Given the description of an element on the screen output the (x, y) to click on. 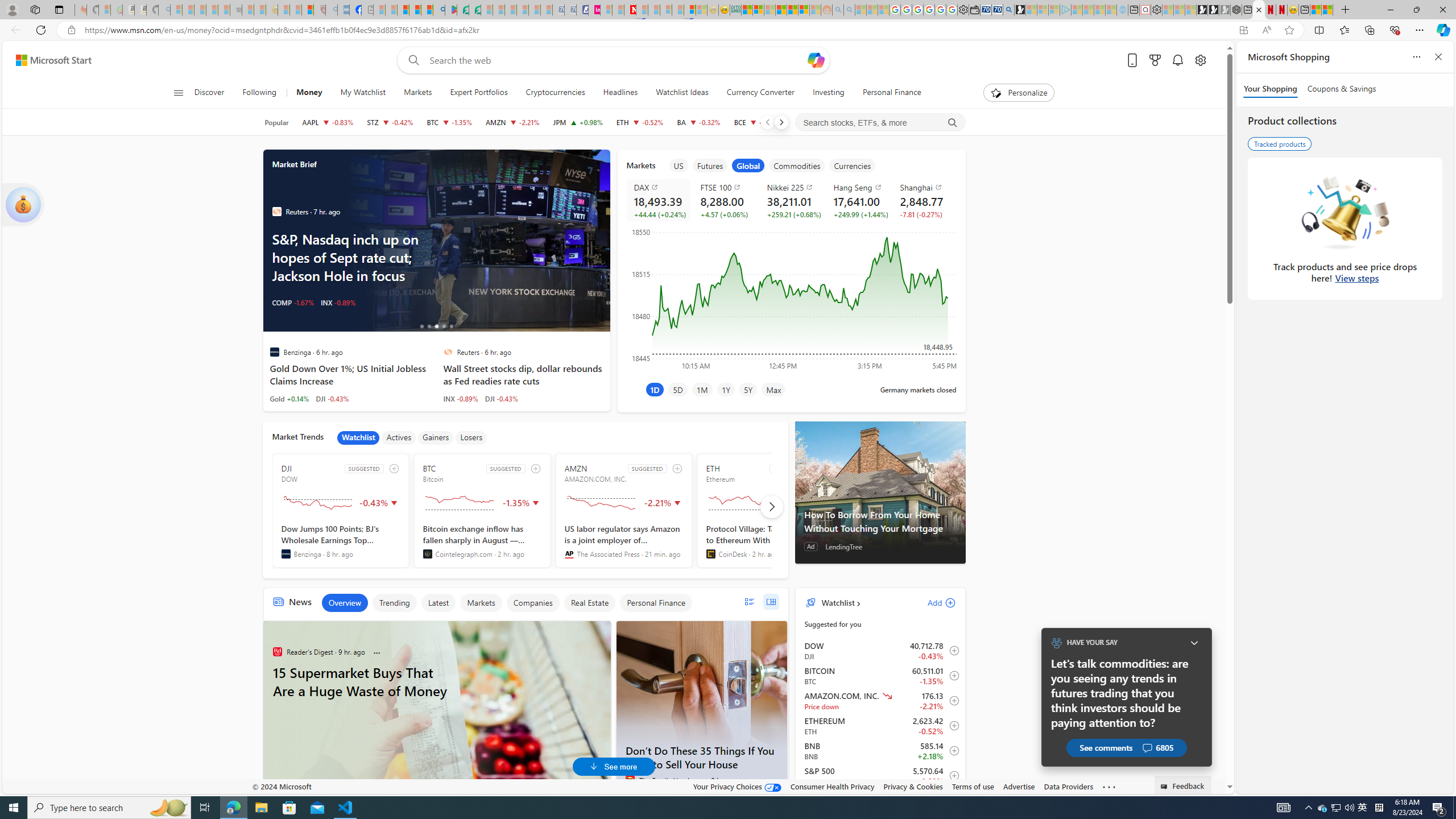
item2 (709, 164)
Cheap Car Rentals - Save70.com - Sleeping (558, 9)
BTC SUGGESTED Bitcoin (481, 510)
Recipes - MSN - Sleeping (283, 9)
Oil edges higher after back-to-back weekly gains (476, 240)
Nikkei 225 (793, 187)
The Associated Press (568, 553)
